Given the description of an element on the screen output the (x, y) to click on. 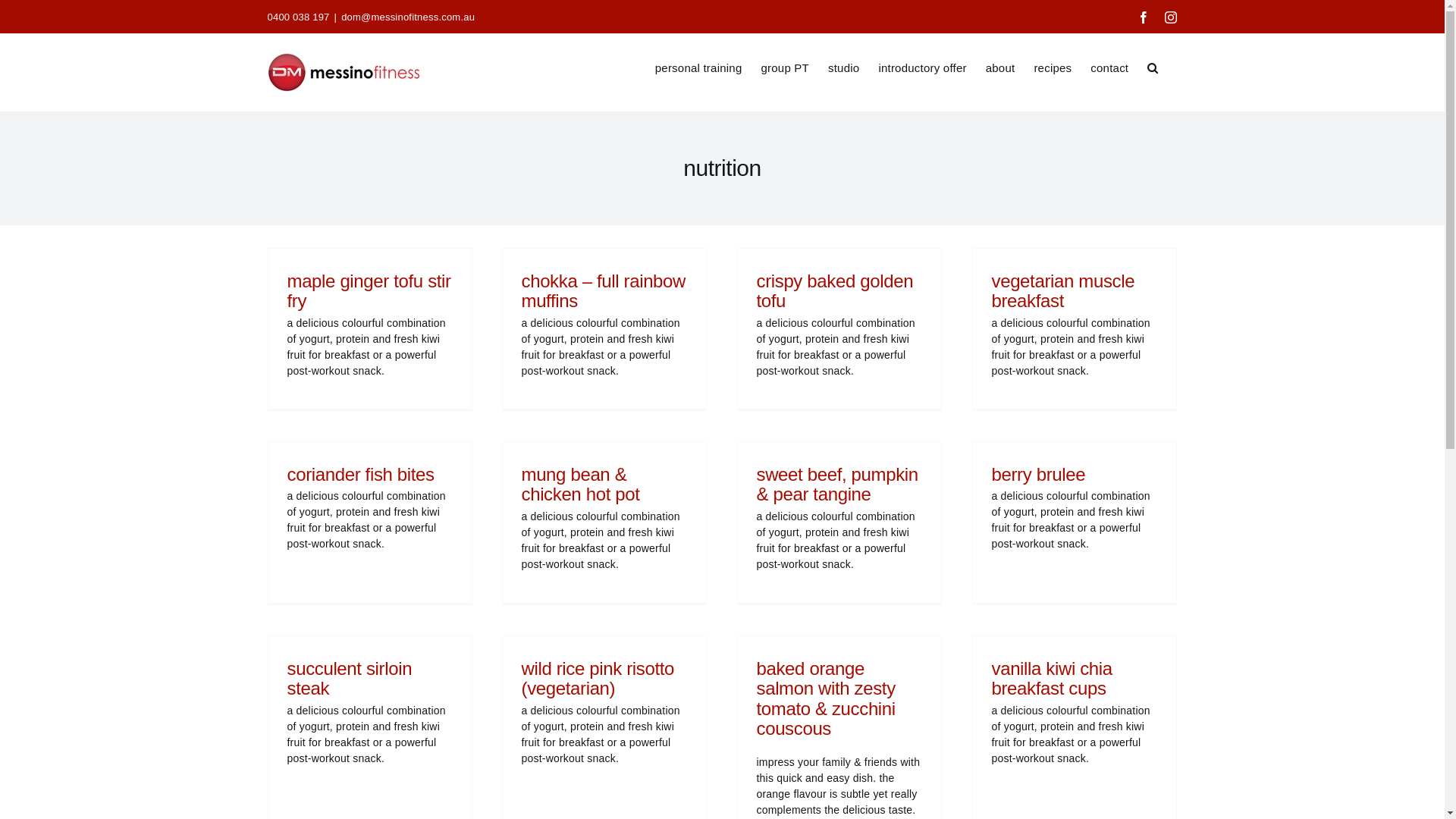
introductory offer Element type: text (922, 67)
group PT Element type: text (784, 67)
studio Element type: text (843, 67)
dom@messinofitness.com.au Element type: text (407, 16)
crispy baked golden tofu Element type: text (834, 290)
mung bean & chicken hot pot Element type: text (580, 484)
Search Element type: hover (1152, 67)
sweet beef, pumpkin & pear tangine Element type: text (837, 484)
maple ginger tofu stir fry Element type: text (368, 290)
baked orange salmon with zesty tomato & zucchini couscous Element type: text (825, 698)
contact Element type: text (1109, 67)
about Element type: text (1000, 67)
wild rice pink risotto (vegetarian) Element type: text (597, 678)
coriander fish bites Element type: text (359, 474)
vanilla kiwi chia breakfast cups Element type: text (1051, 678)
berry brulee Element type: text (1038, 474)
vegetarian muscle breakfast Element type: text (1063, 290)
Facebook Element type: text (1143, 17)
recipes Element type: text (1052, 67)
Instagram Element type: text (1170, 17)
succulent sirloin steak Element type: text (348, 678)
personal training Element type: text (698, 67)
